Given the description of an element on the screen output the (x, y) to click on. 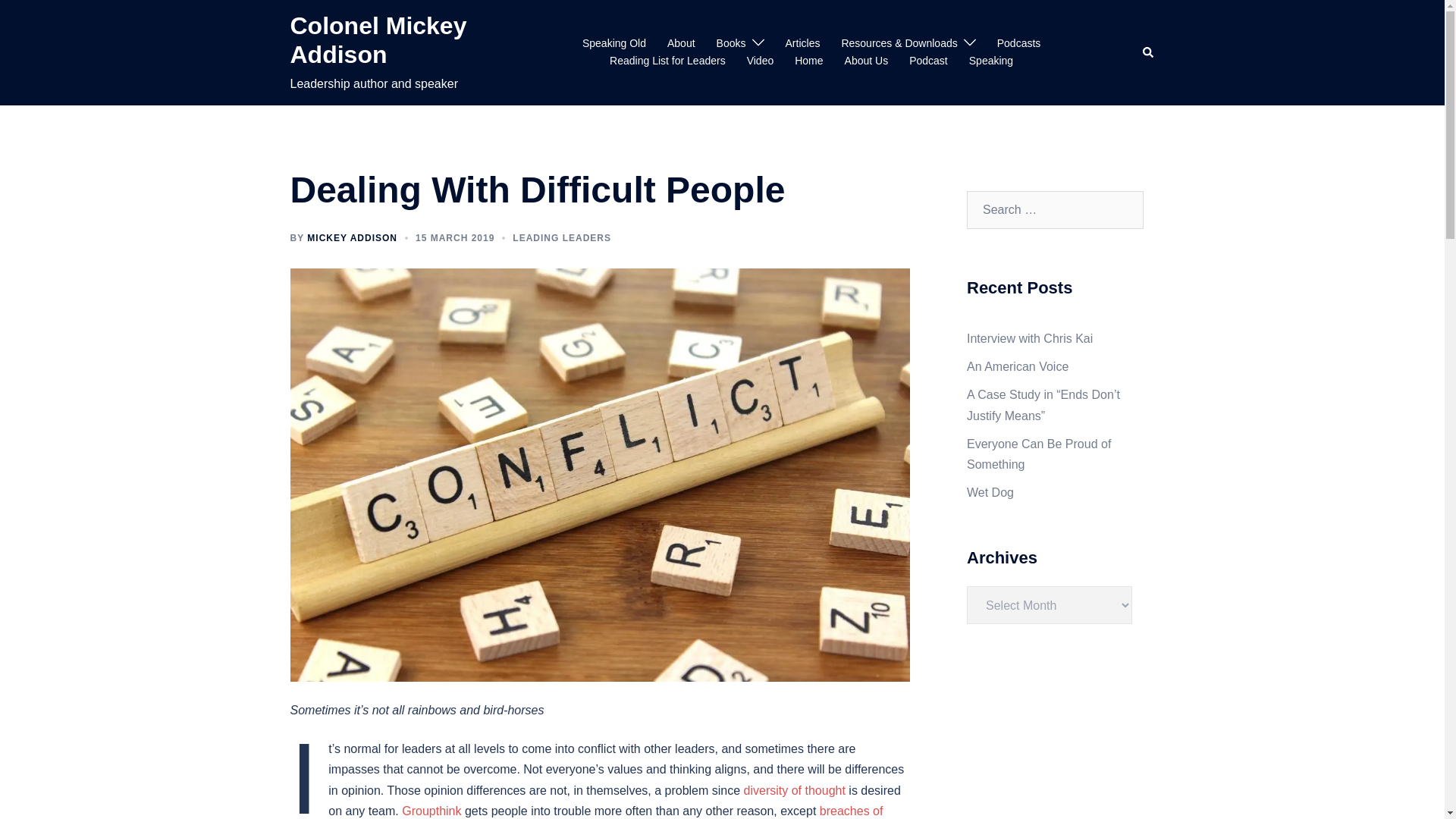
Home (808, 61)
Articles (803, 44)
Reading List for Leaders (667, 61)
Search (1147, 51)
Books (730, 44)
Podcast (927, 61)
Speaking Old (614, 44)
Speaking (991, 61)
About (680, 44)
Podcasts (1019, 44)
